Given the description of an element on the screen output the (x, y) to click on. 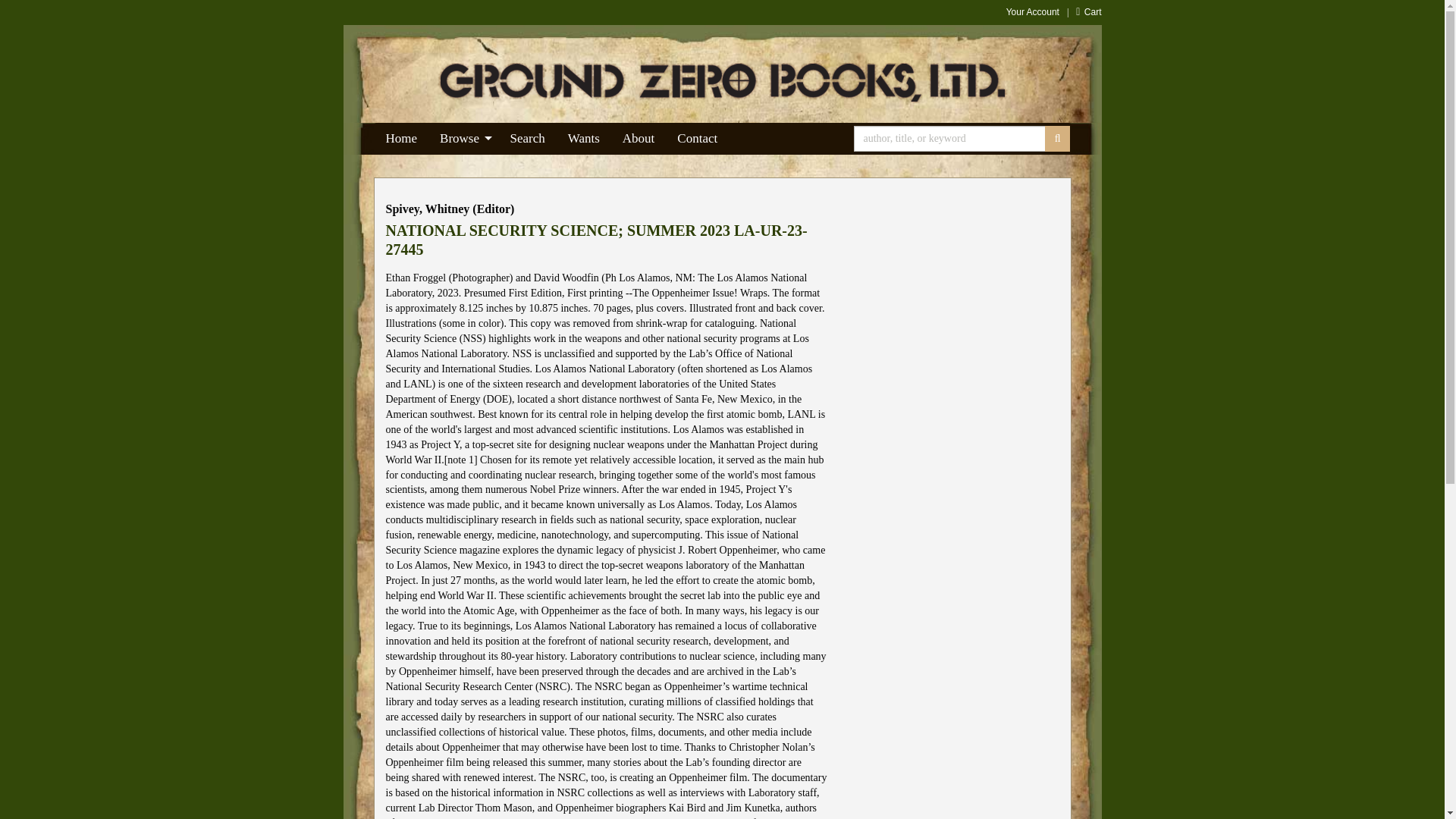
Search (527, 138)
SUBMIT SEARCH (1057, 138)
Browse (462, 138)
Contact (697, 138)
Wants (583, 138)
About (638, 138)
Skip to main content (350, 7)
Cart (1087, 11)
Home (401, 138)
Your Account (1032, 11)
